Given the description of an element on the screen output the (x, y) to click on. 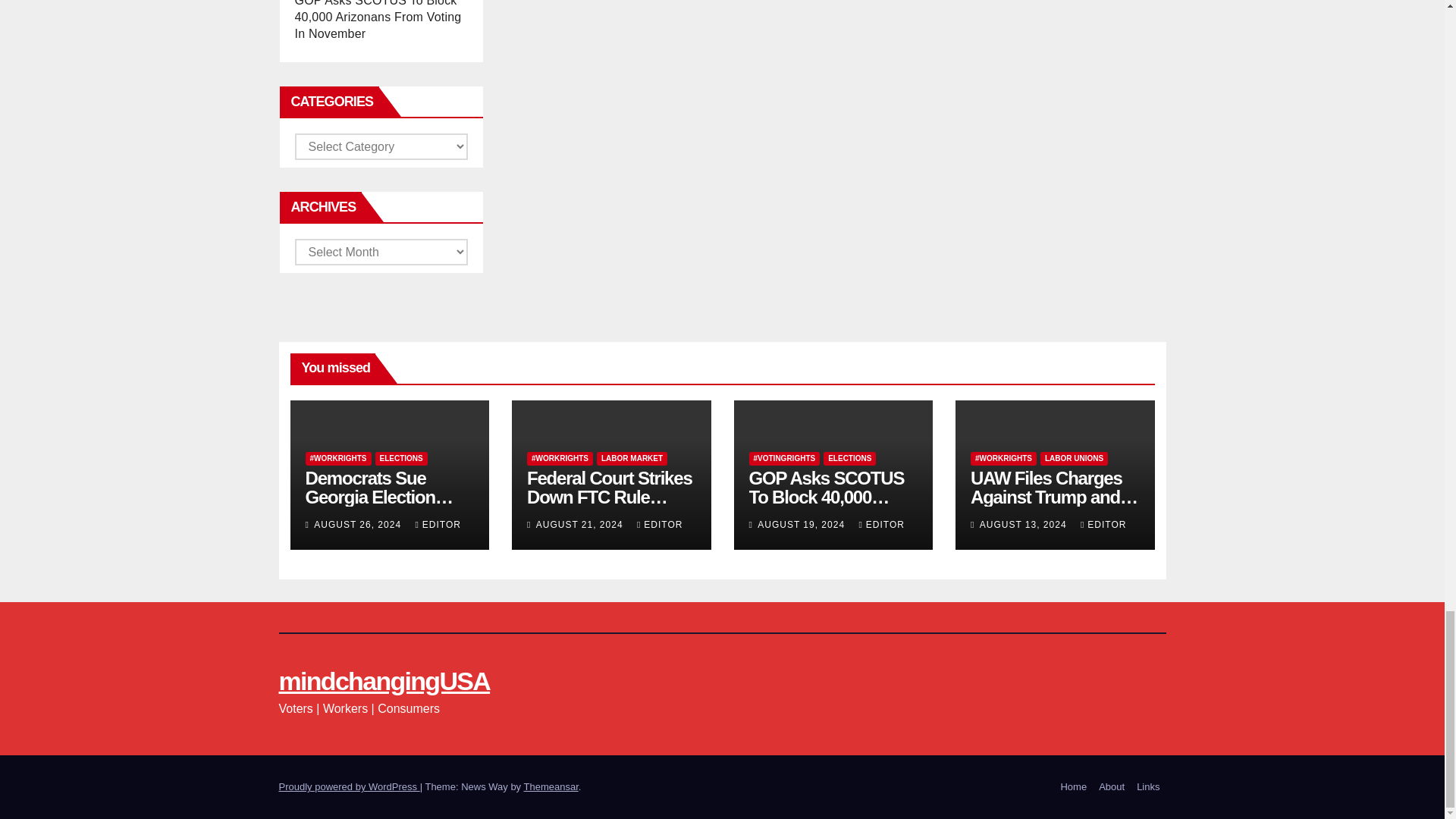
Home (1073, 786)
